Given the description of an element on the screen output the (x, y) to click on. 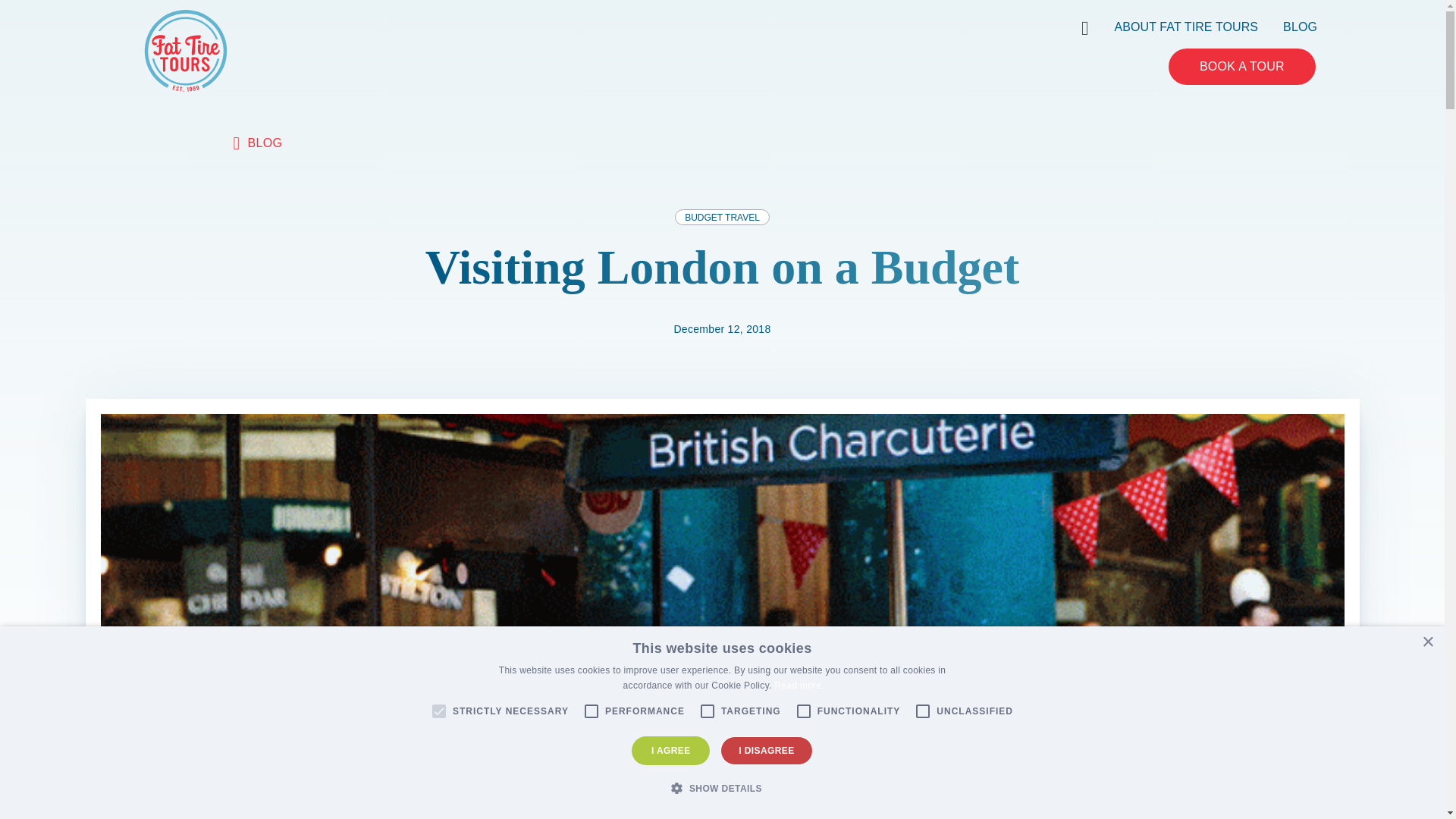
BLOG (257, 143)
BUDGET TRAVEL (722, 217)
Fat Tire Tours (185, 48)
BLOG (1299, 25)
ABOUT FAT TIRE TOURS (1187, 25)
BOOK A TOUR (1242, 66)
